Given the description of an element on the screen output the (x, y) to click on. 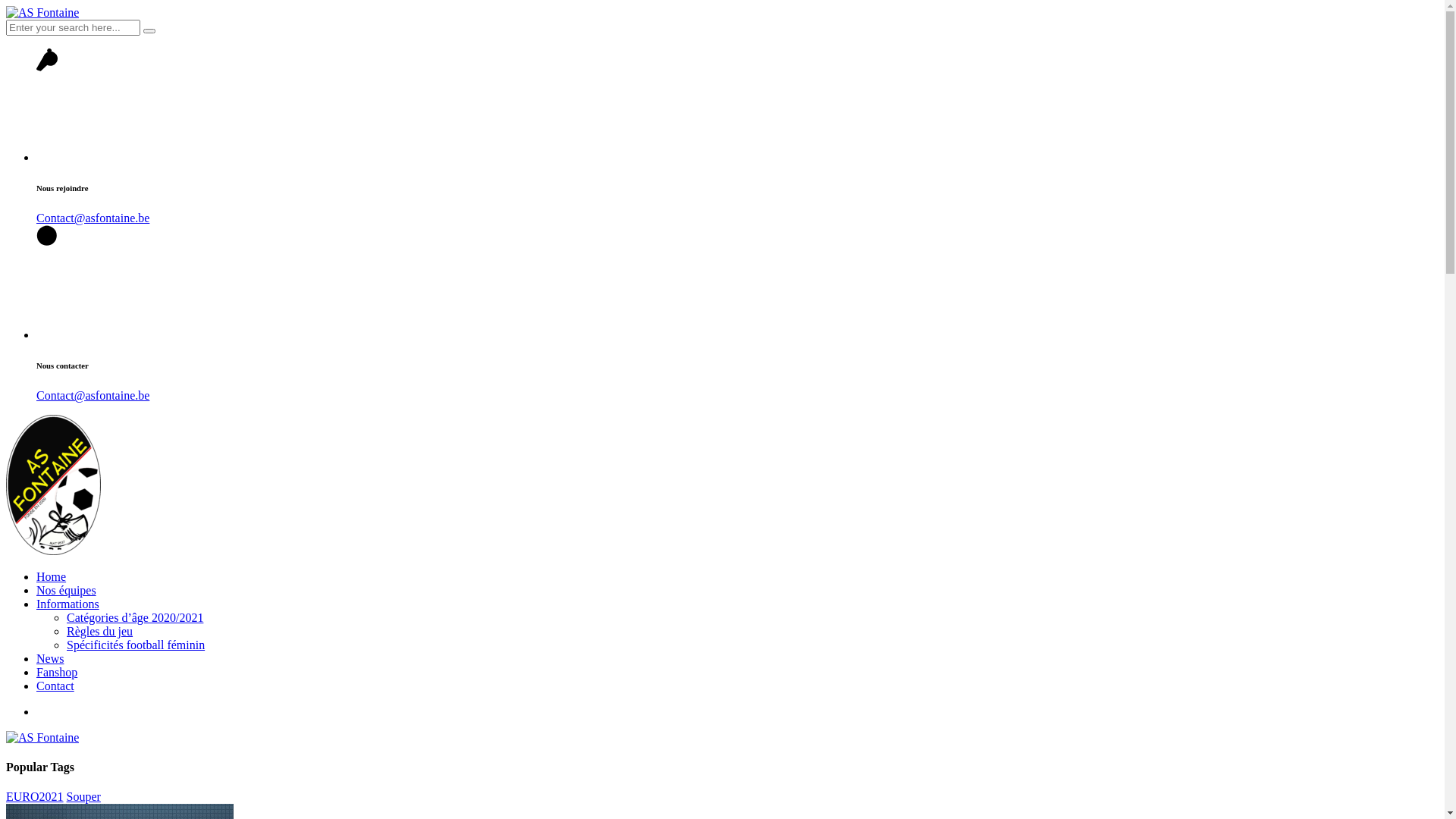
Home Element type: text (50, 576)
News Element type: text (49, 658)
Contact Element type: text (55, 685)
Souper Element type: text (83, 796)
Fanshop Element type: text (56, 671)
Informations Element type: text (67, 603)
Contact@asfontaine.be Element type: text (92, 217)
Contact@asfontaine.be Element type: text (92, 395)
EURO2021 Element type: text (34, 796)
